Given the description of an element on the screen output the (x, y) to click on. 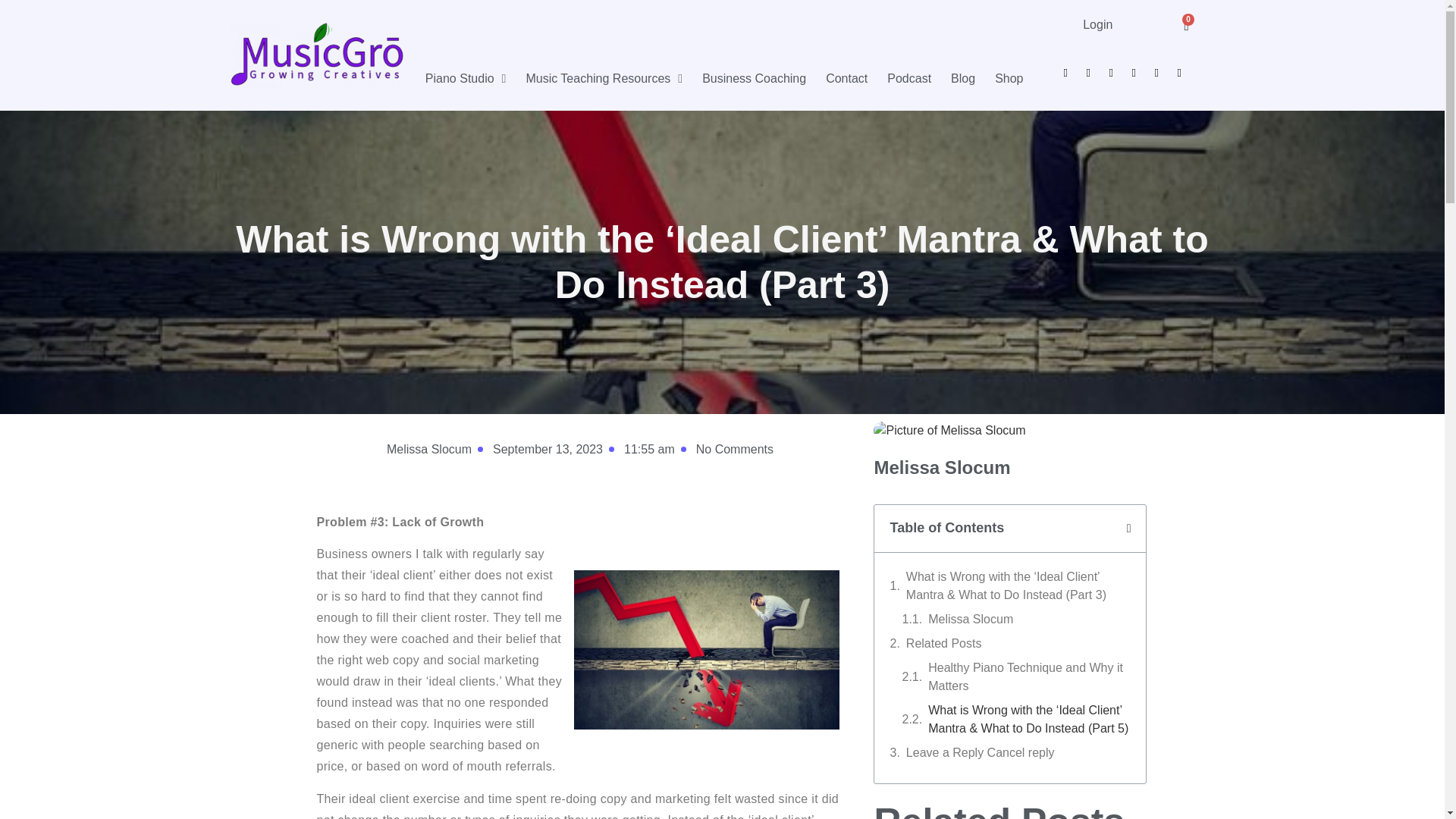
Contact (846, 78)
Melissa Slocum (426, 449)
Podcast (908, 78)
September 13, 2023 (545, 449)
Business Coaching (753, 78)
Related Posts (943, 643)
0 (1186, 25)
No Comments (733, 449)
Music Teaching Resources (603, 78)
Login (1097, 24)
